Given the description of an element on the screen output the (x, y) to click on. 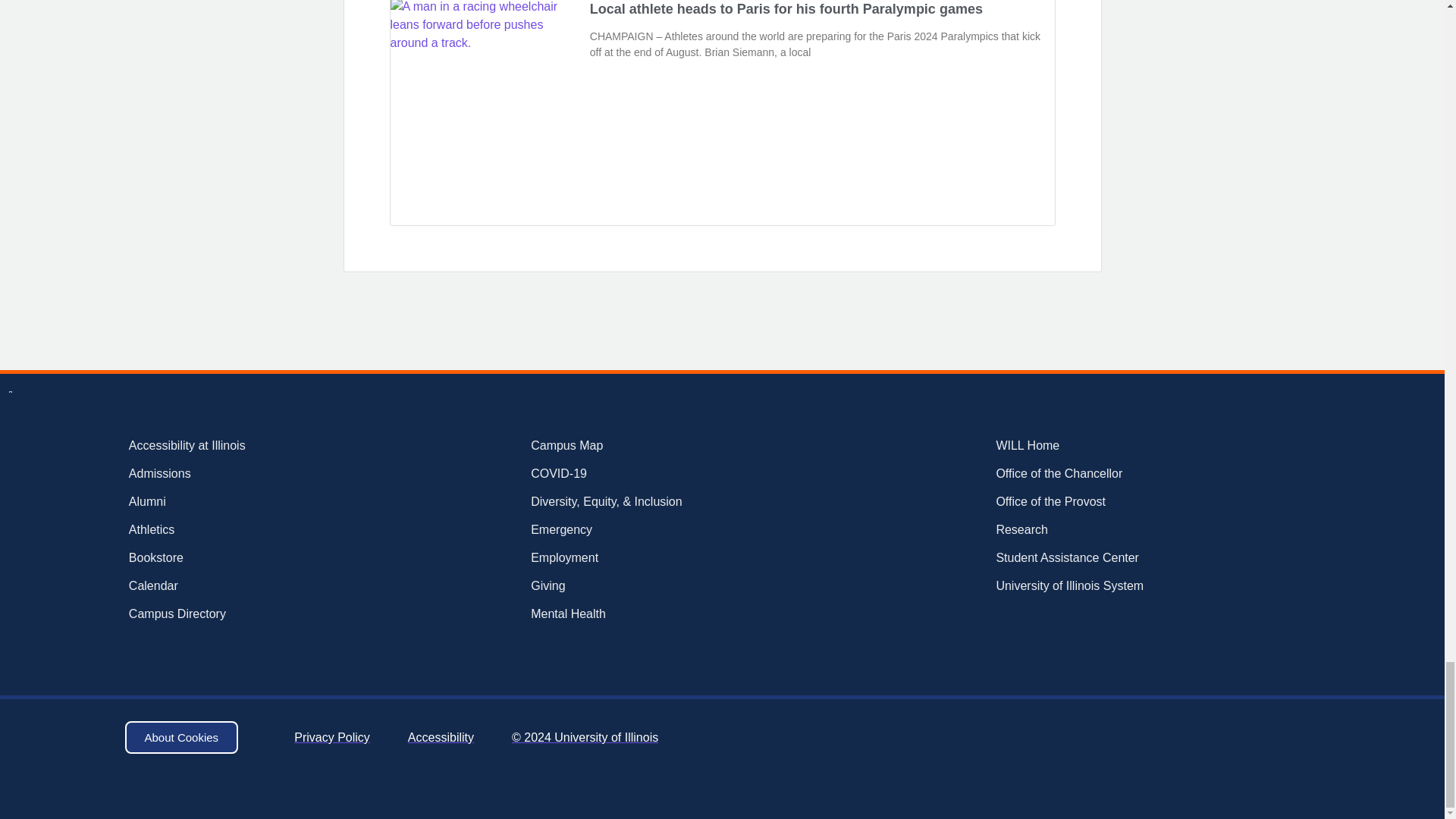
Athletics (235, 529)
Local athlete heads to Paris for his fourth Paralympic games (785, 8)
Alumni (235, 502)
Accessibility at Illinois (235, 445)
Admissions (235, 474)
